Given the description of an element on the screen output the (x, y) to click on. 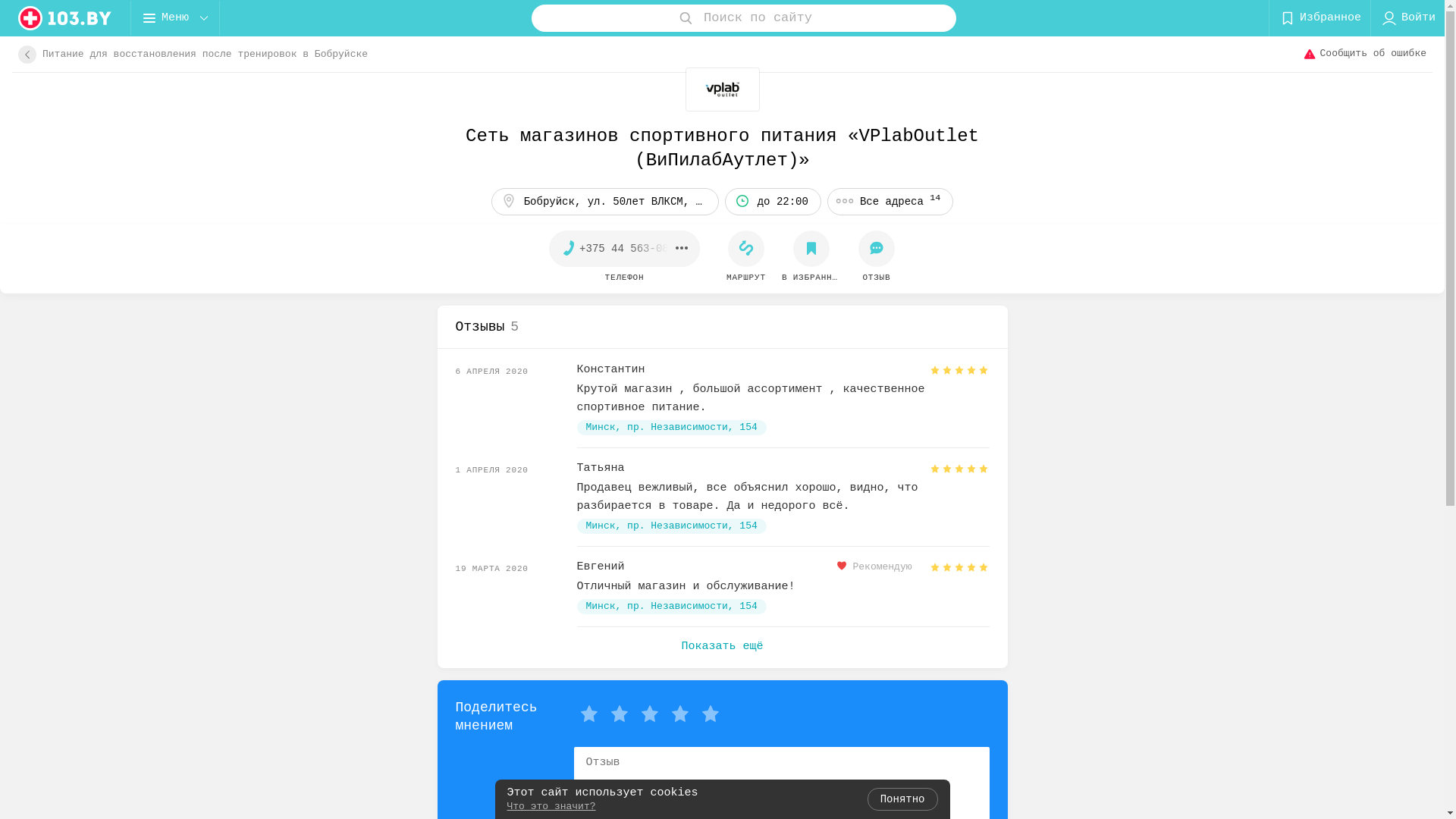
logo Element type: hover (65, 18)
